Given the description of an element on the screen output the (x, y) to click on. 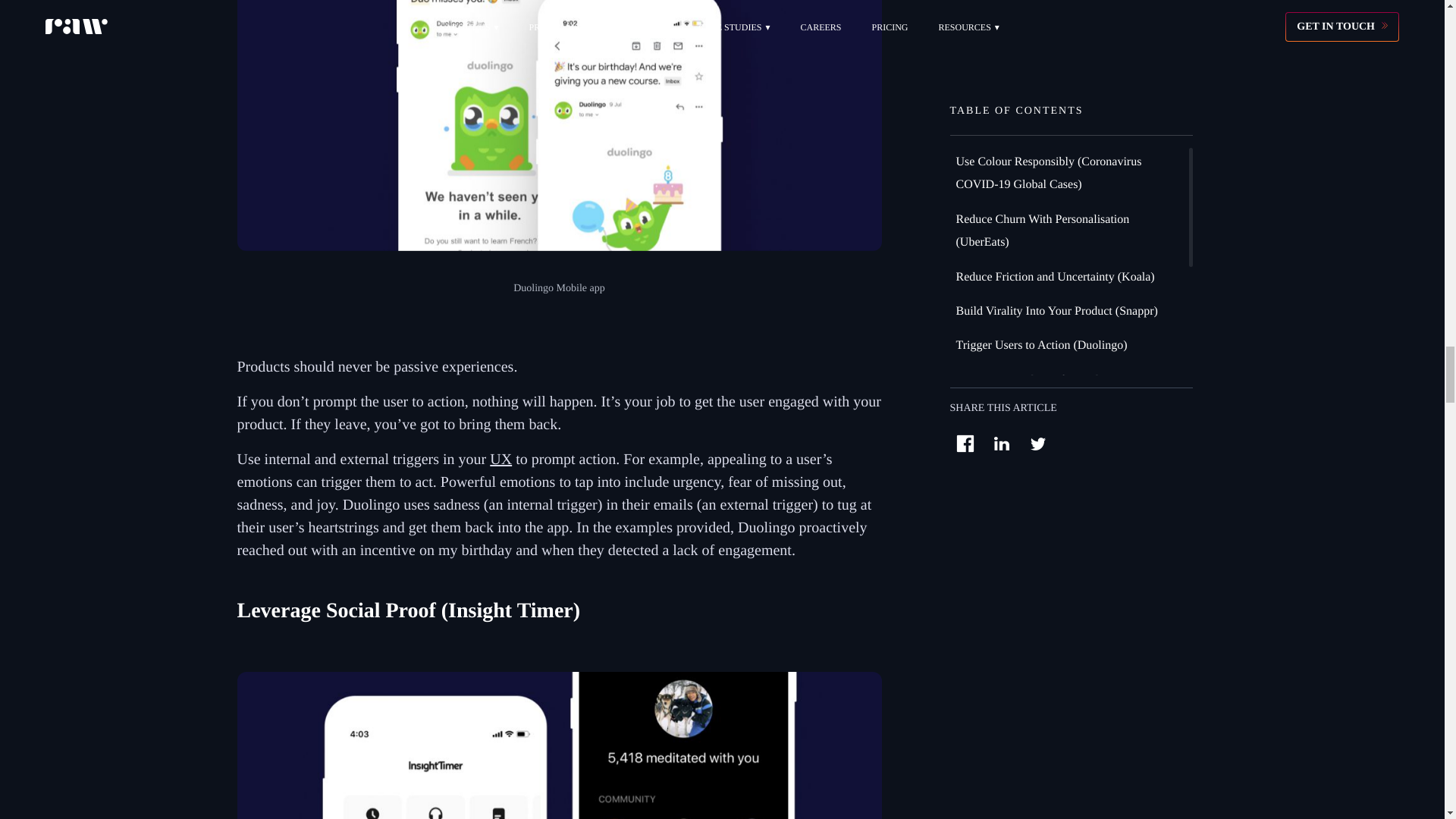
10 Design Commandments You Must Consider for Your Product (557, 745)
